Given the description of an element on the screen output the (x, y) to click on. 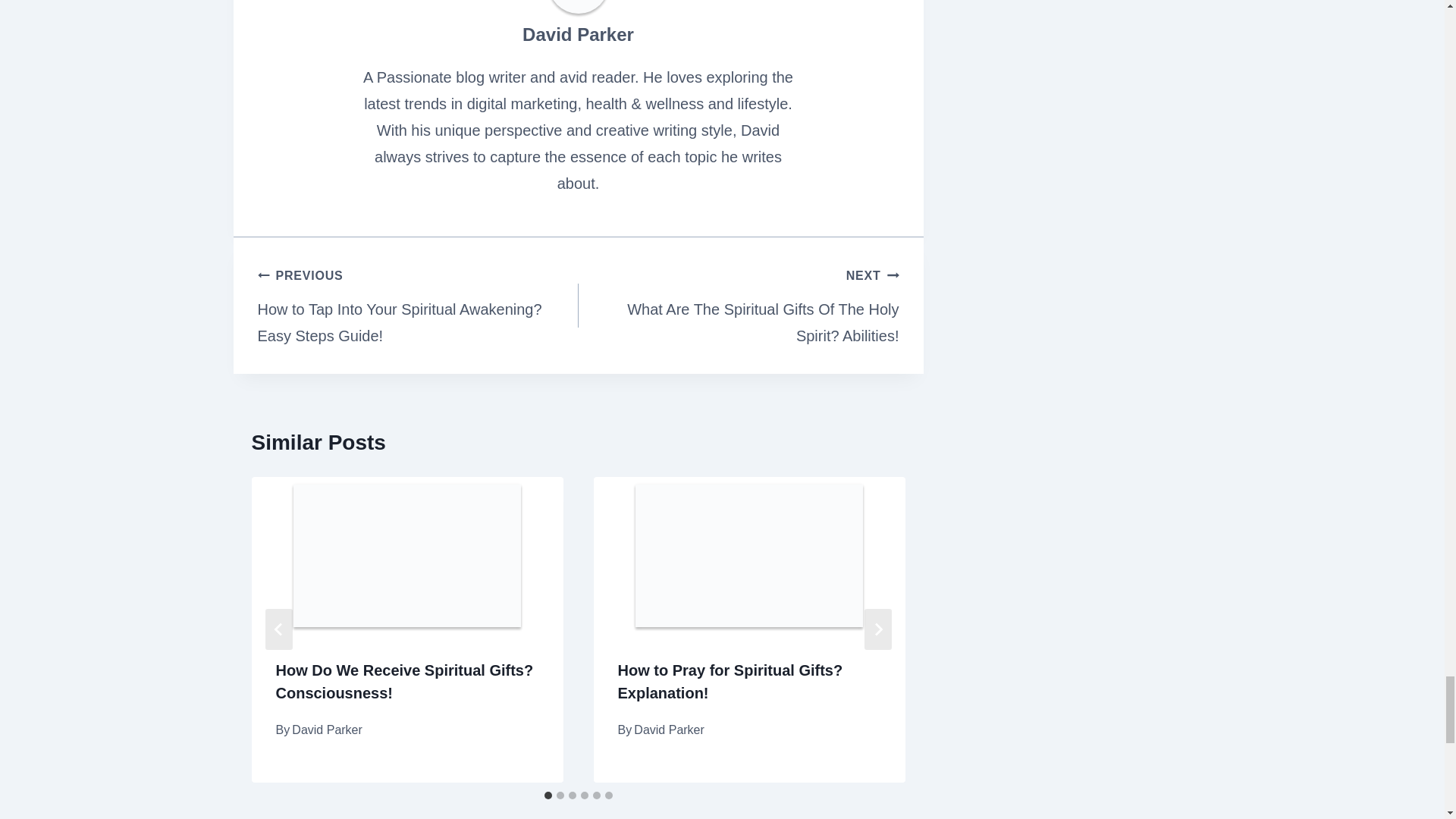
Posts by David Parker (577, 34)
How to Pray for Spiritual Gifts? Explanation! (730, 681)
David Parker (577, 34)
How Do We Receive Spiritual Gifts? Consciousness! (405, 681)
